Given the description of an element on the screen output the (x, y) to click on. 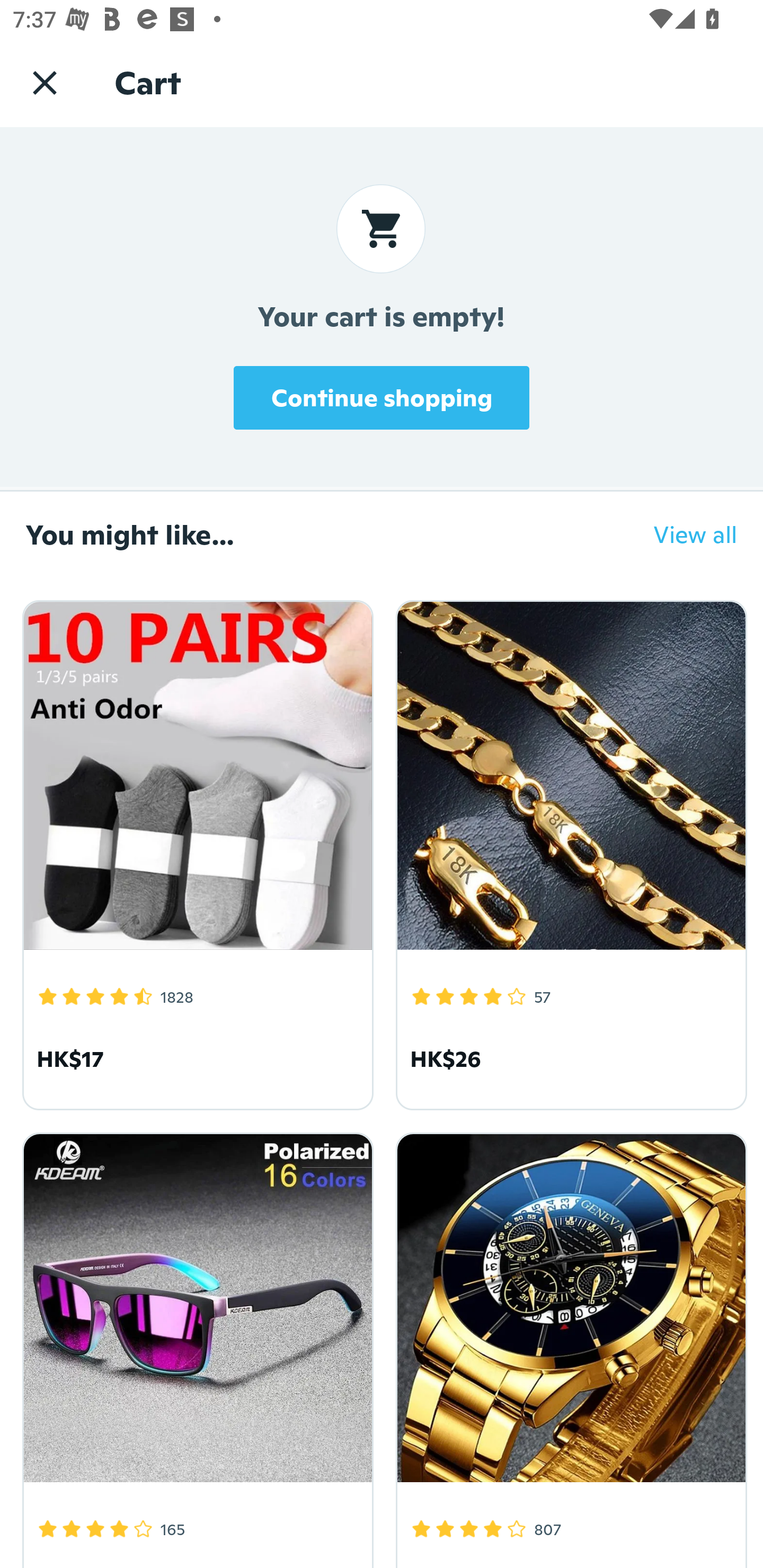
Navigate up (44, 82)
Continue shopping (381, 397)
View all (682, 534)
4.3 Star Rating 1828 HK$17 (194, 852)
3.9 Star Rating 57 HK$26 (567, 852)
4.2 Star Rating 165 (194, 1346)
3.8 Star Rating 807 (567, 1346)
